Given the description of an element on the screen output the (x, y) to click on. 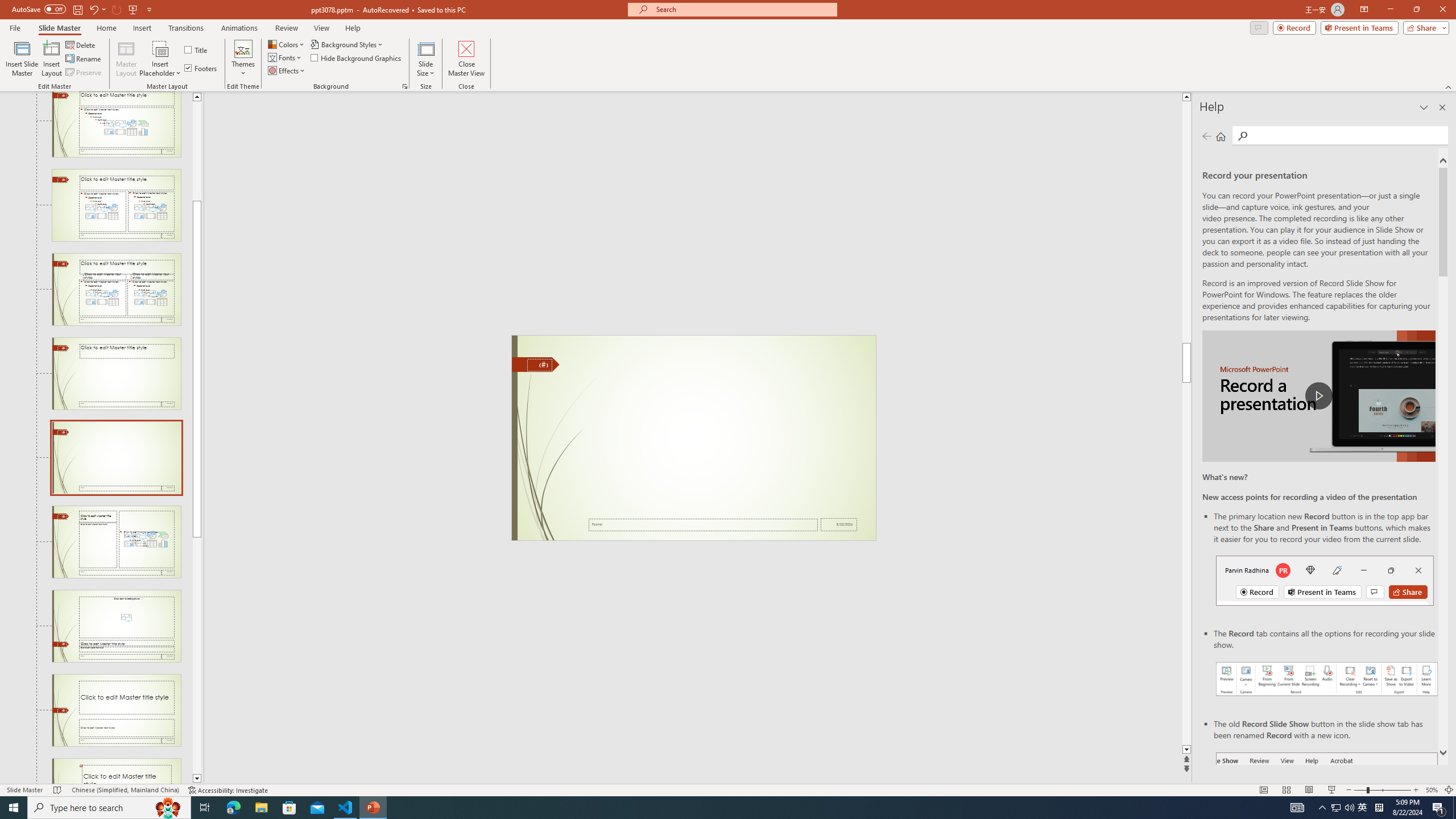
Title (196, 49)
Slide Title and Content Layout: used by no slides (116, 124)
Insert Placeholder (160, 58)
Content (160, 48)
Format Background... (404, 85)
Preserve (84, 72)
Slide Number (539, 364)
